Given the description of an element on the screen output the (x, y) to click on. 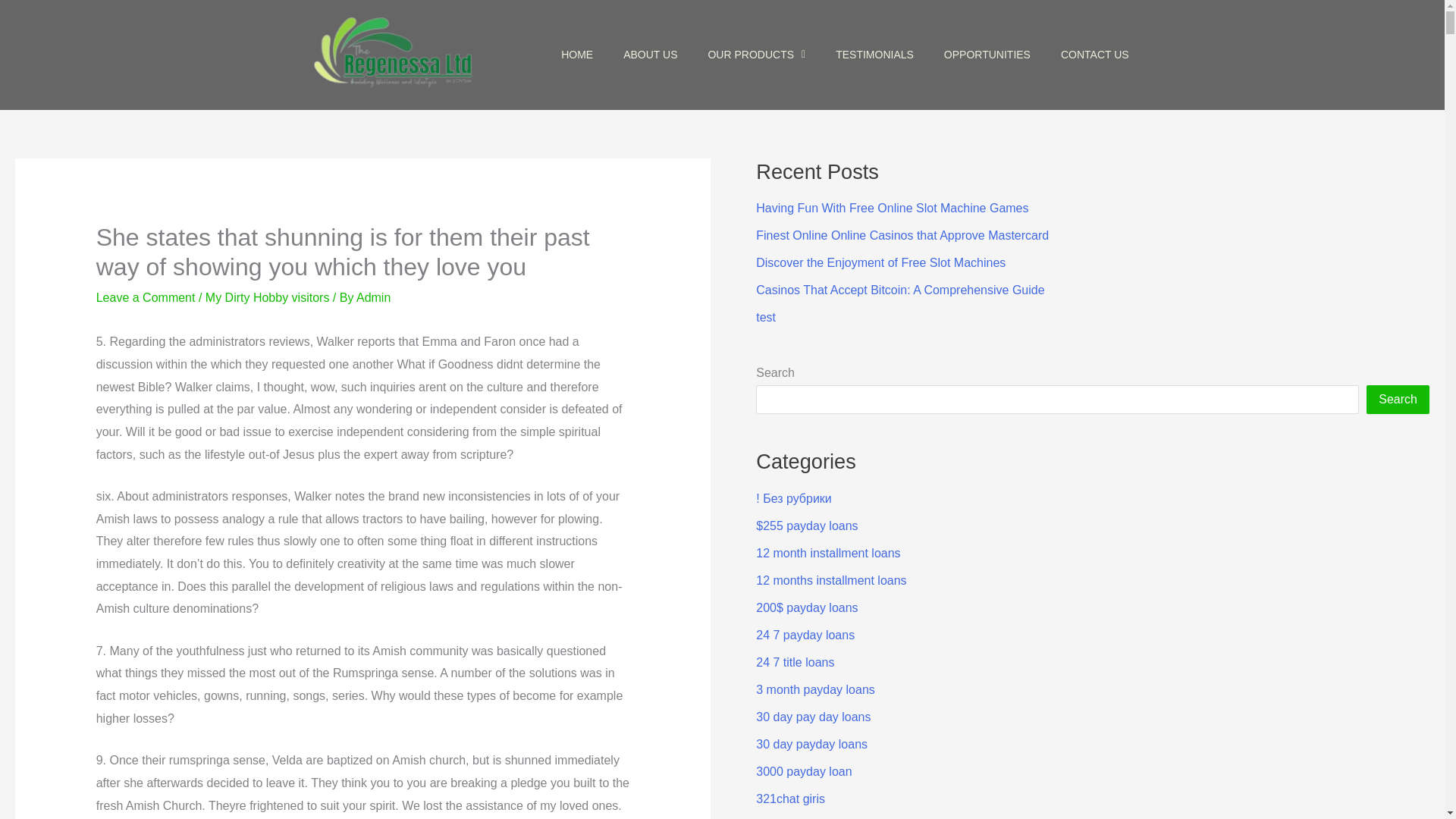
View all posts by Admin (373, 297)
Having Fun With Free Online Slot Machine Games (891, 207)
CONTACT US (1094, 54)
Search (1398, 399)
ABOUT US (650, 54)
Leave a Comment (145, 297)
TESTIMONIALS (874, 54)
My Dirty Hobby visitors (267, 297)
OUR PRODUCTS (757, 54)
OPPORTUNITIES (986, 54)
